Given the description of an element on the screen output the (x, y) to click on. 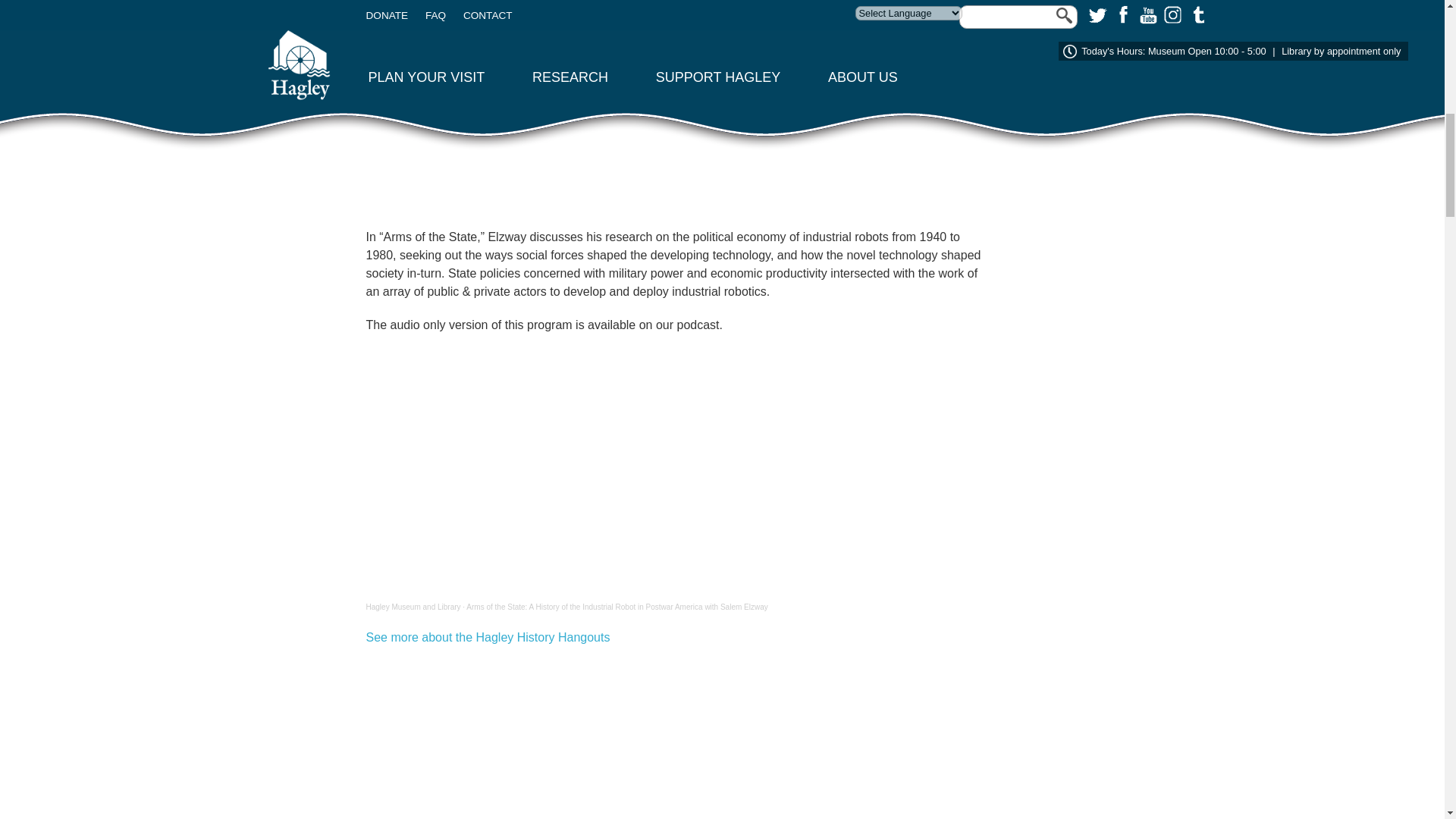
Hagley Museum and Library (412, 606)
